Given the description of an element on the screen output the (x, y) to click on. 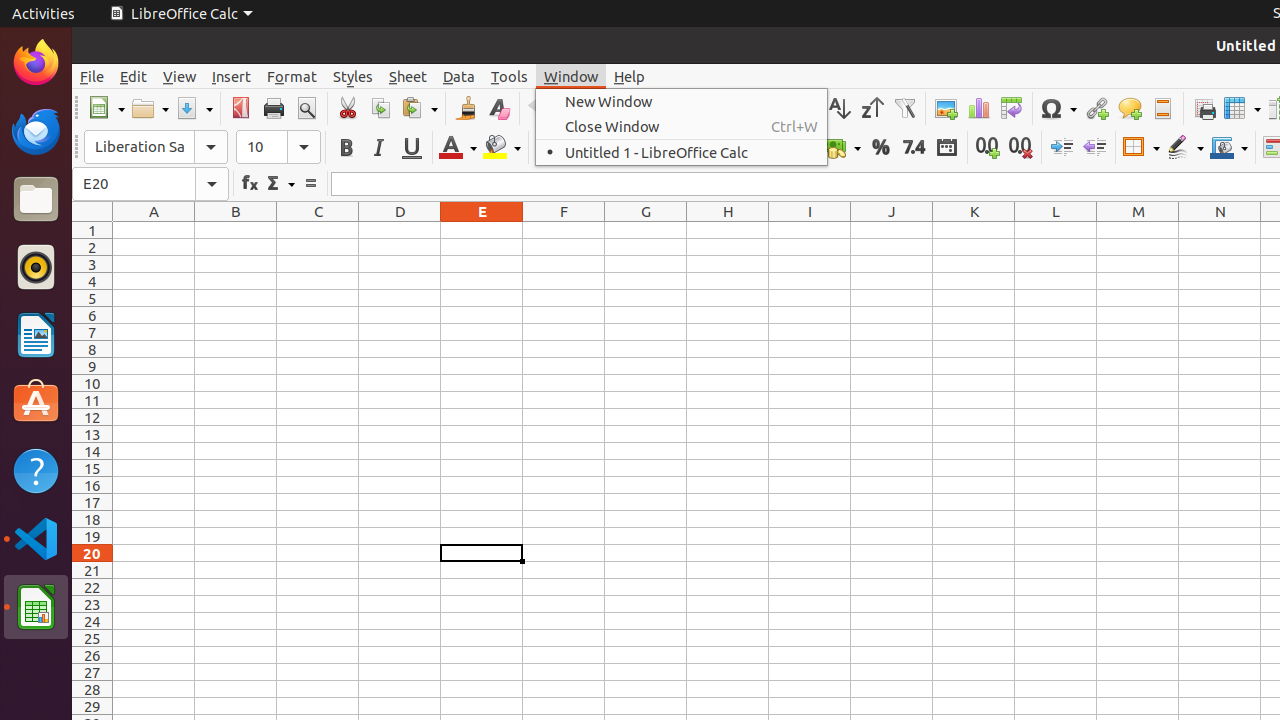
Font Name Element type: combo-box (156, 147)
Function Wizard Element type: push-button (249, 183)
Border Style Element type: push-button (1185, 147)
Increase Element type: push-button (1061, 147)
Name Box Element type: combo-box (150, 184)
